Given the description of an element on the screen output the (x, y) to click on. 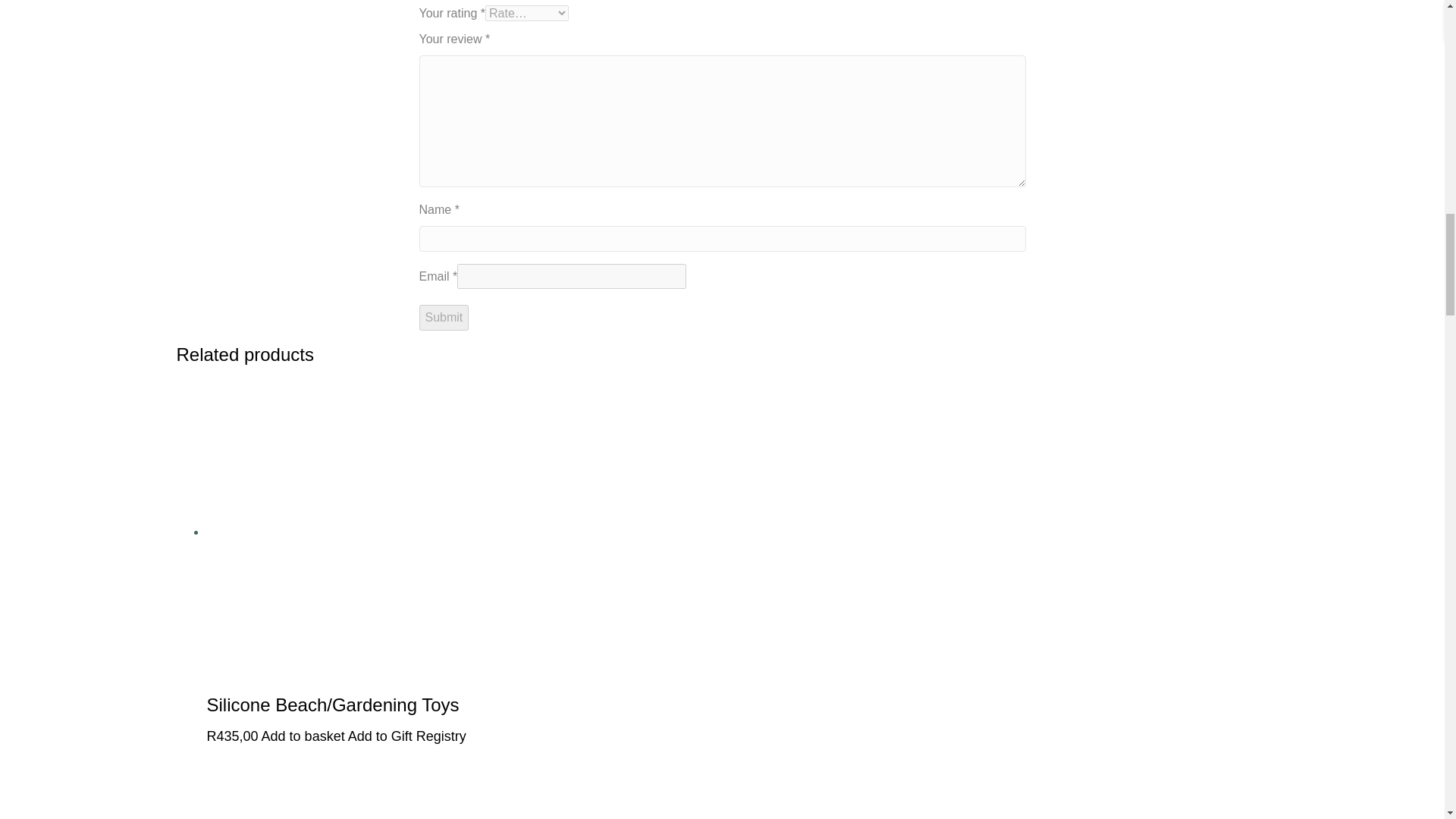
Submit (443, 317)
